Given the description of an element on the screen output the (x, y) to click on. 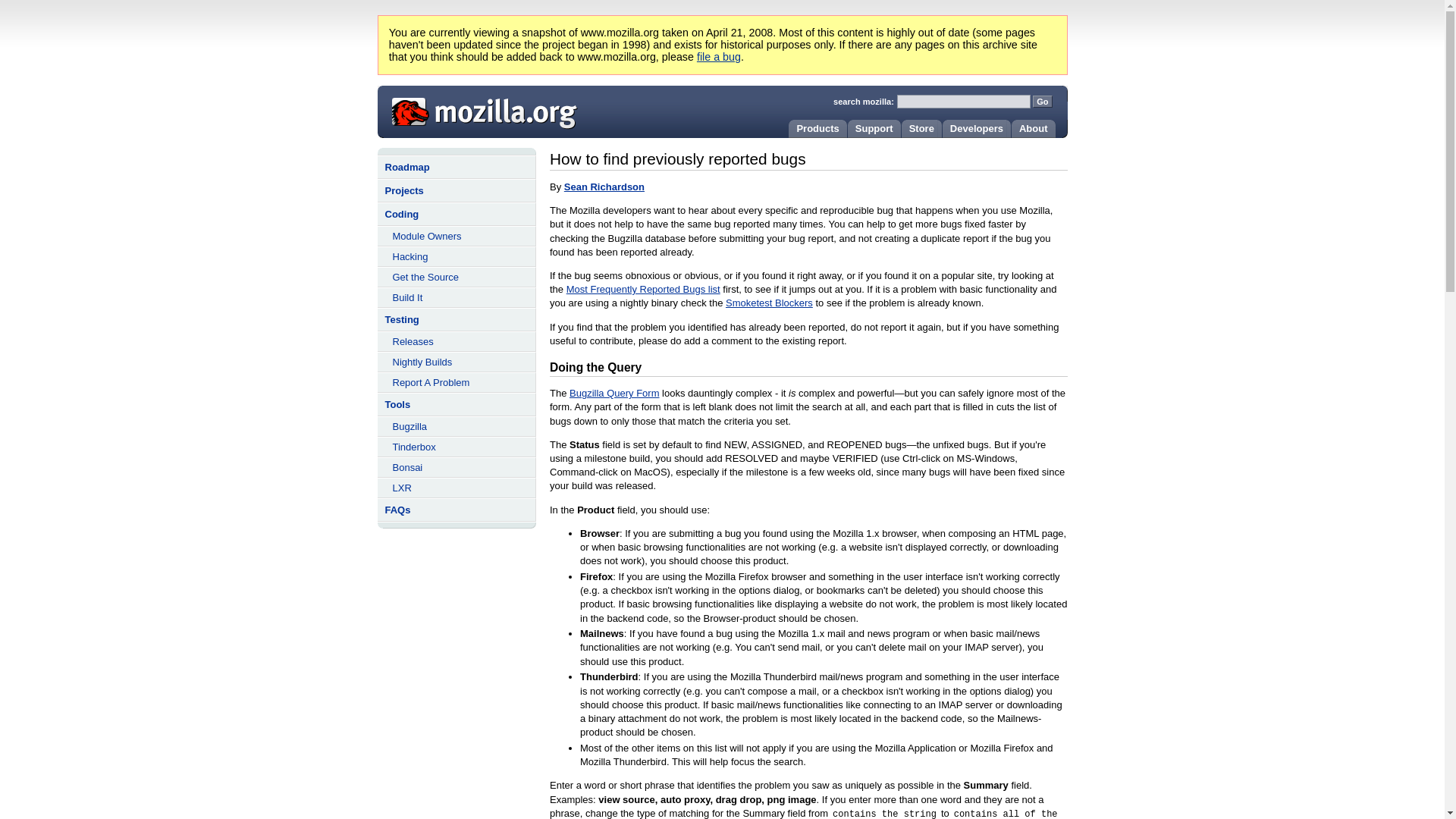
Most Frequently Reported Bugs list (643, 288)
Getting the most out of your online experience (1031, 128)
Search mozilla.org's sites (862, 101)
FAQs (456, 509)
Tinderbox (456, 446)
Roadmap (456, 167)
Installation, trouble-shooting, and the knowledge base (871, 128)
Releases (456, 341)
Coding (456, 214)
mozilla.org Search (949, 96)
Roadmap (456, 167)
Shop for Mozilla products on CD and other merchandise (919, 128)
Smoketest Blockers (768, 302)
Go (1041, 101)
Return to home page (478, 109)
